Given the description of an element on the screen output the (x, y) to click on. 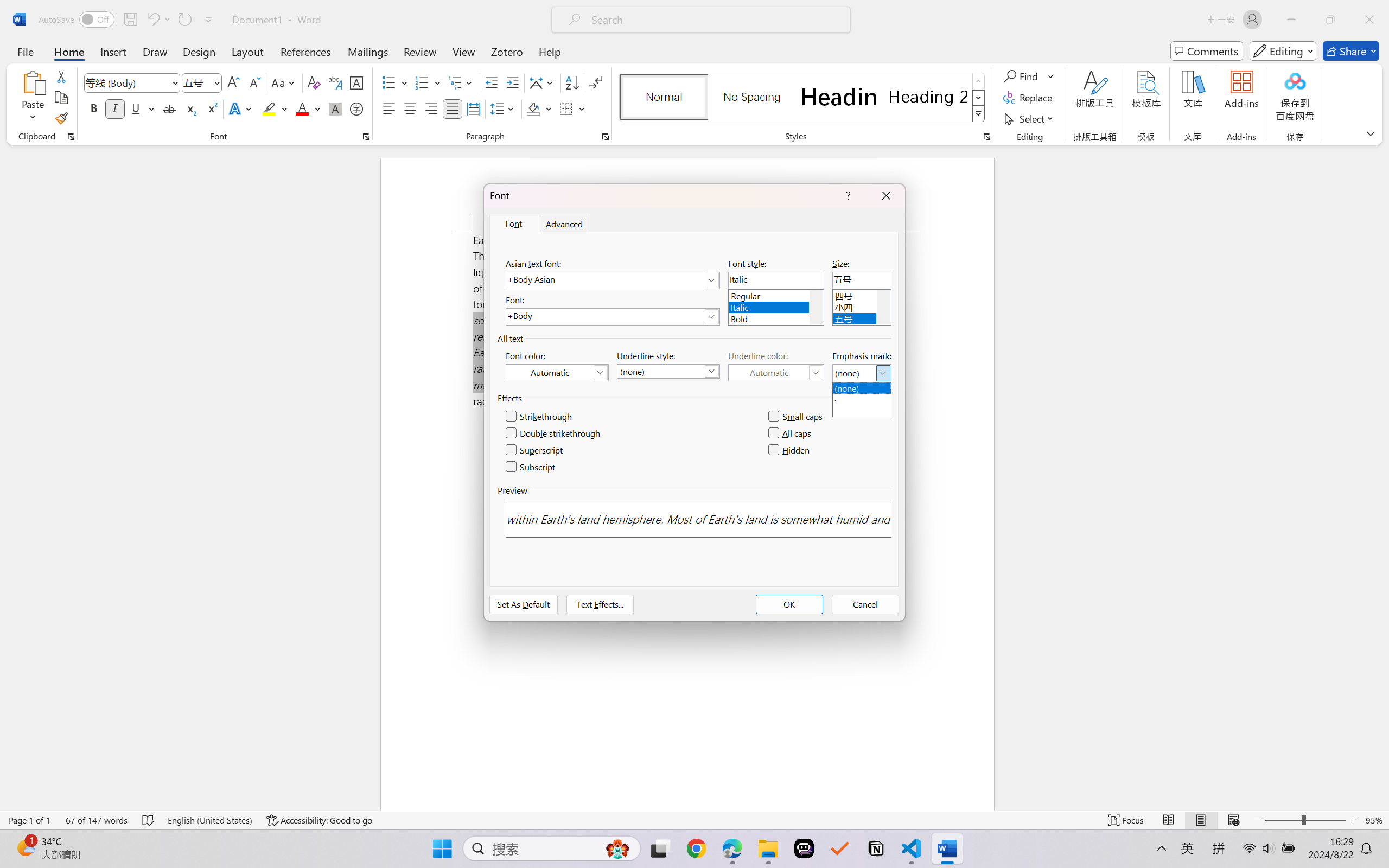
Heading 2 (927, 96)
Copy (60, 97)
Poe (804, 848)
Undo Italic (158, 19)
